Given the description of an element on the screen output the (x, y) to click on. 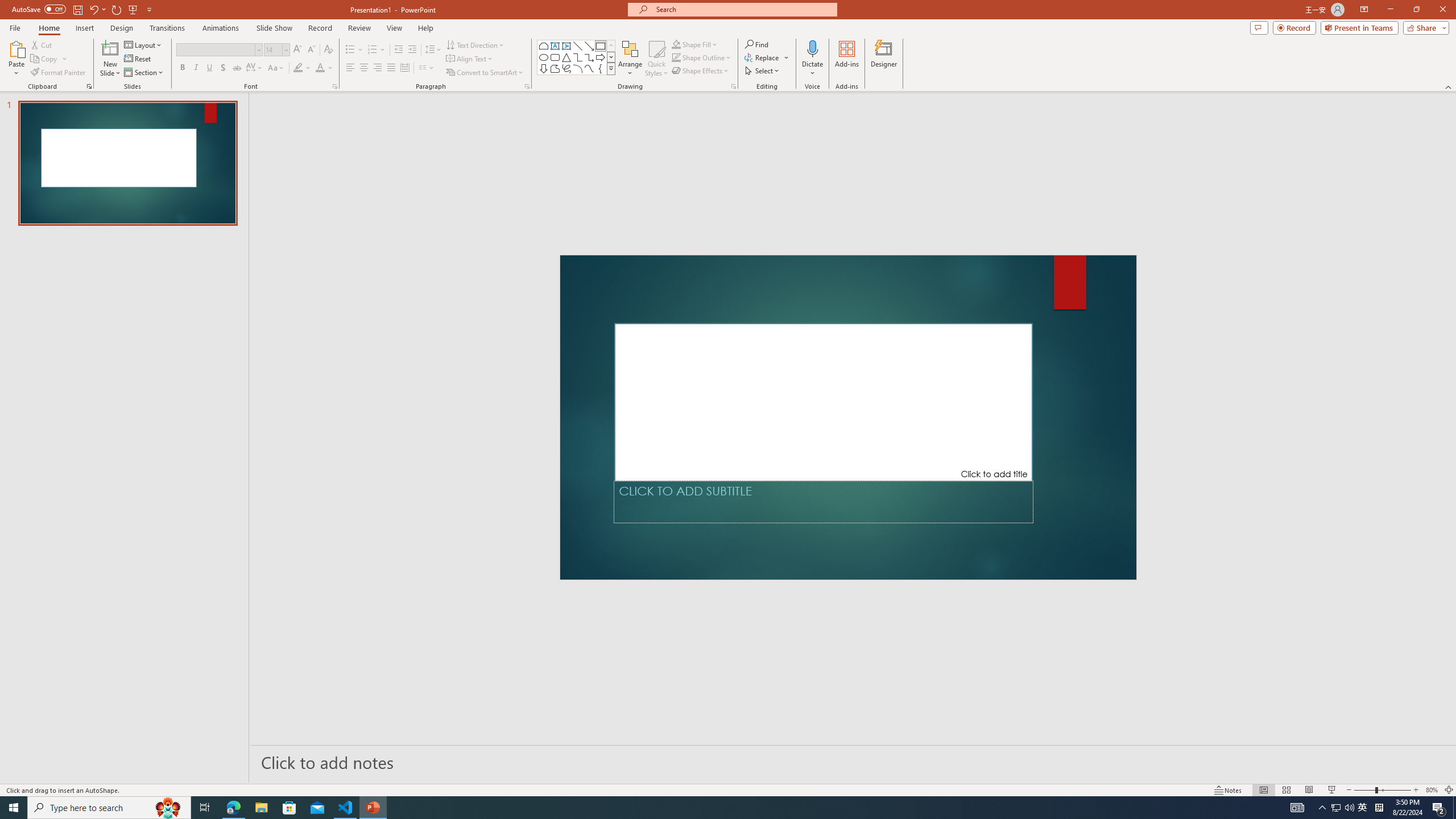
Zoom 80% (1431, 790)
Title TextBox (823, 401)
